Given the description of an element on the screen output the (x, y) to click on. 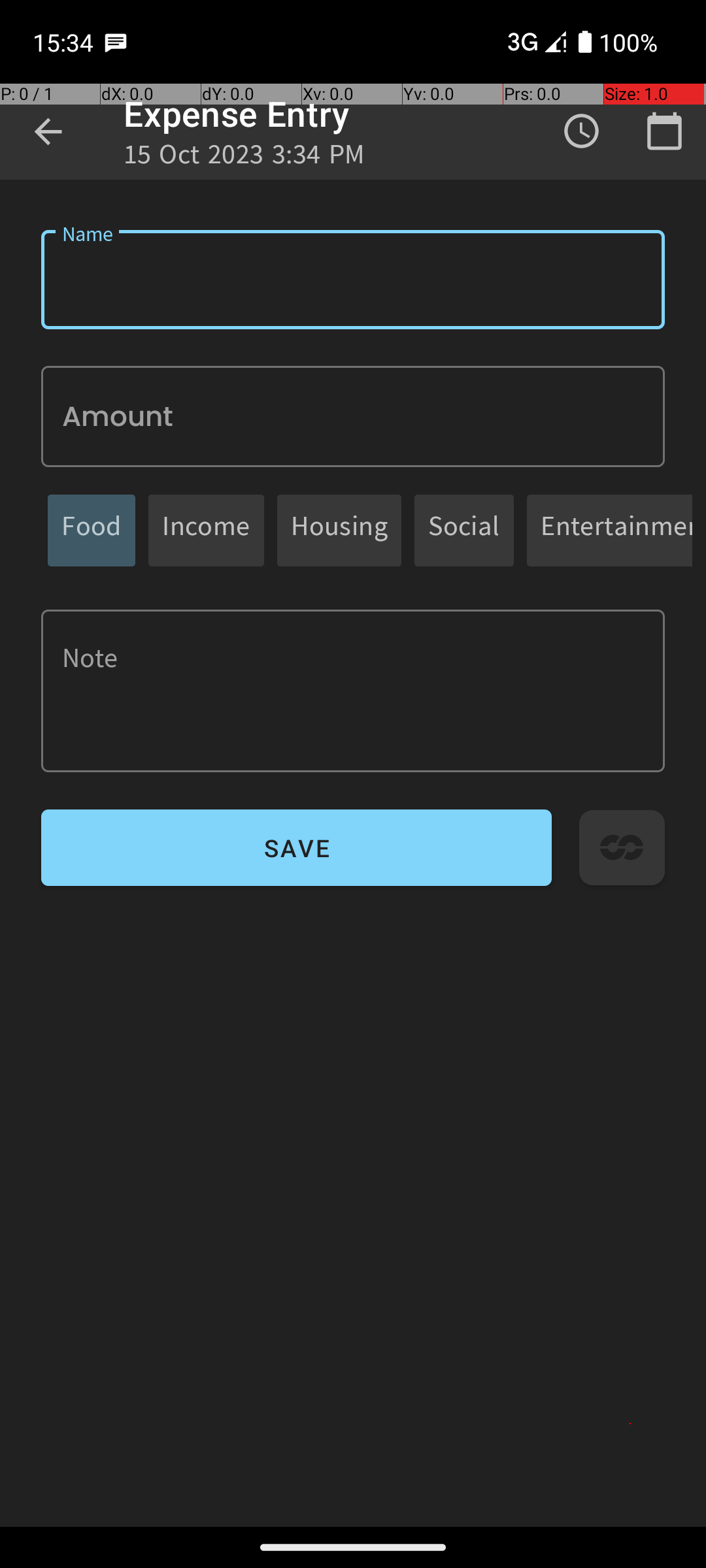
Expense Entry Element type: android.widget.TextView (236, 113)
15 Oct 2023 3:34 PM Element type: android.widget.TextView (244, 157)
Name Element type: android.widget.EditText (352, 279)
SAVE Element type: android.widget.Button (296, 847)
SMS Messenger notification: +12845986552 Element type: android.widget.ImageView (115, 41)
